Given the description of an element on the screen output the (x, y) to click on. 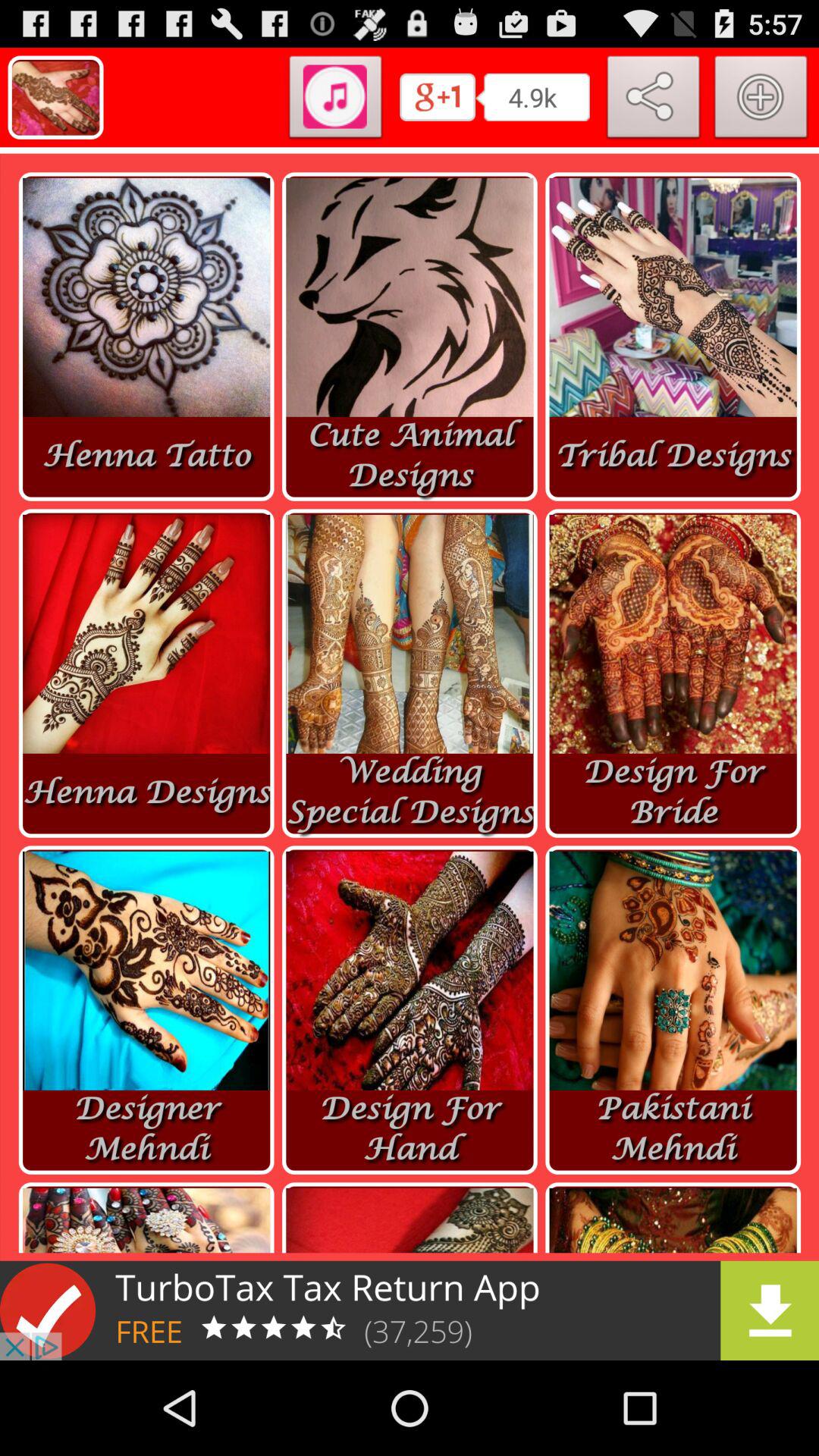
setting button (761, 100)
